Given the description of an element on the screen output the (x, y) to click on. 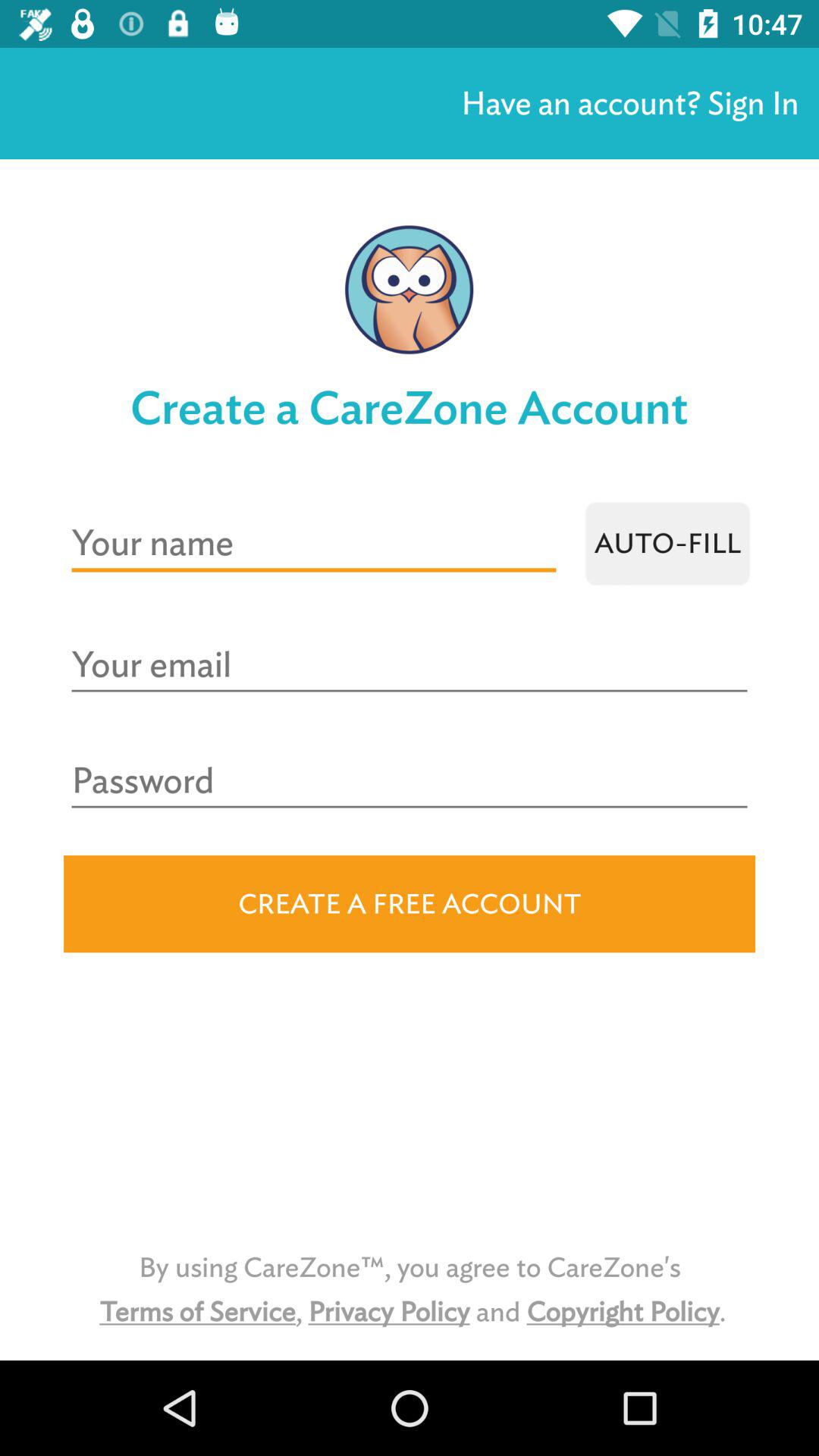
scroll to the by using carezone (409, 1289)
